Given the description of an element on the screen output the (x, y) to click on. 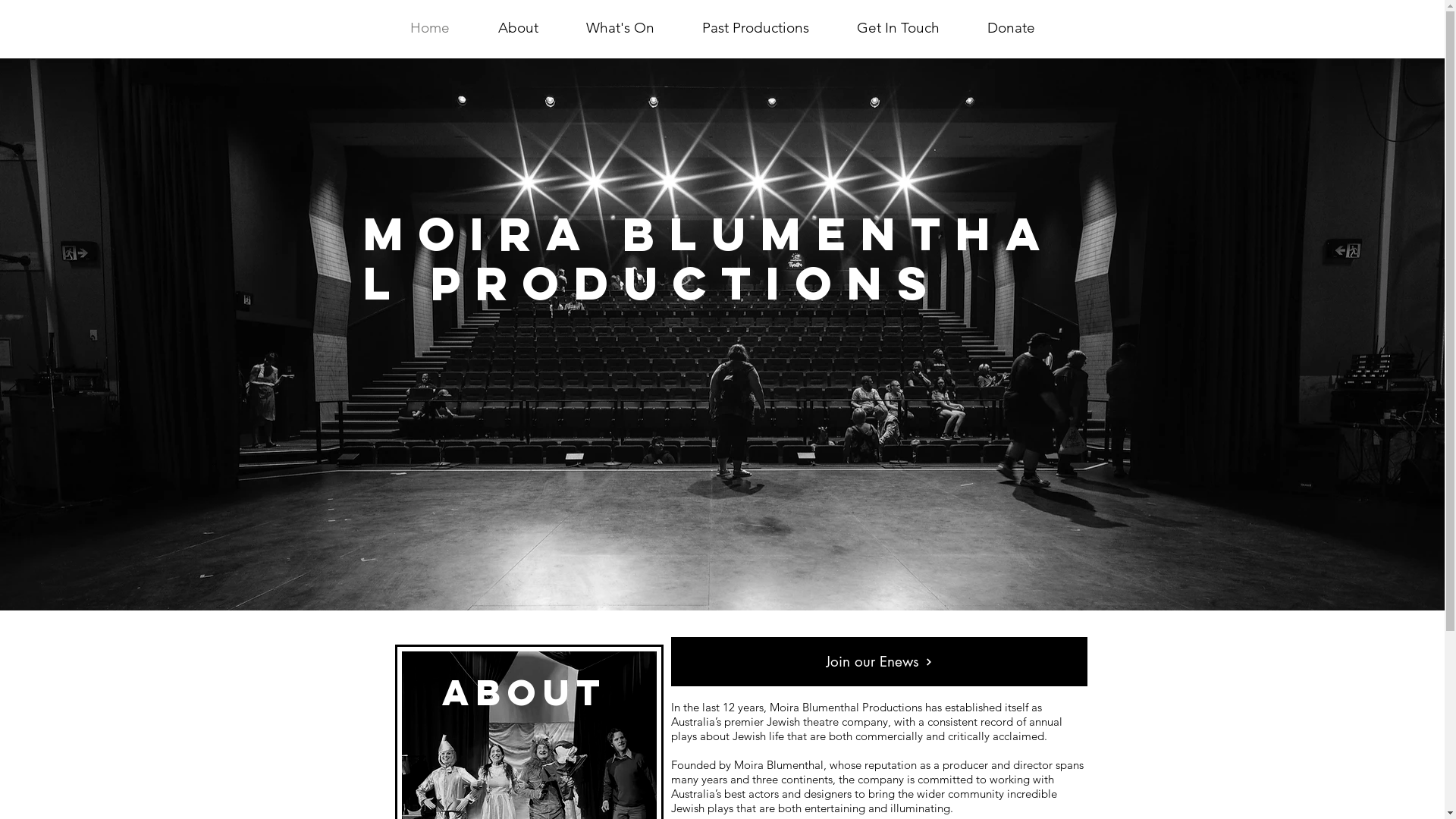
About Element type: text (517, 28)
Past Productions Element type: text (754, 28)
Get In Touch Element type: text (897, 28)
What's On Element type: text (620, 28)
Join our Enews Element type: text (878, 661)
Home Element type: text (429, 28)
Donate Element type: text (1010, 28)
